Given the description of an element on the screen output the (x, y) to click on. 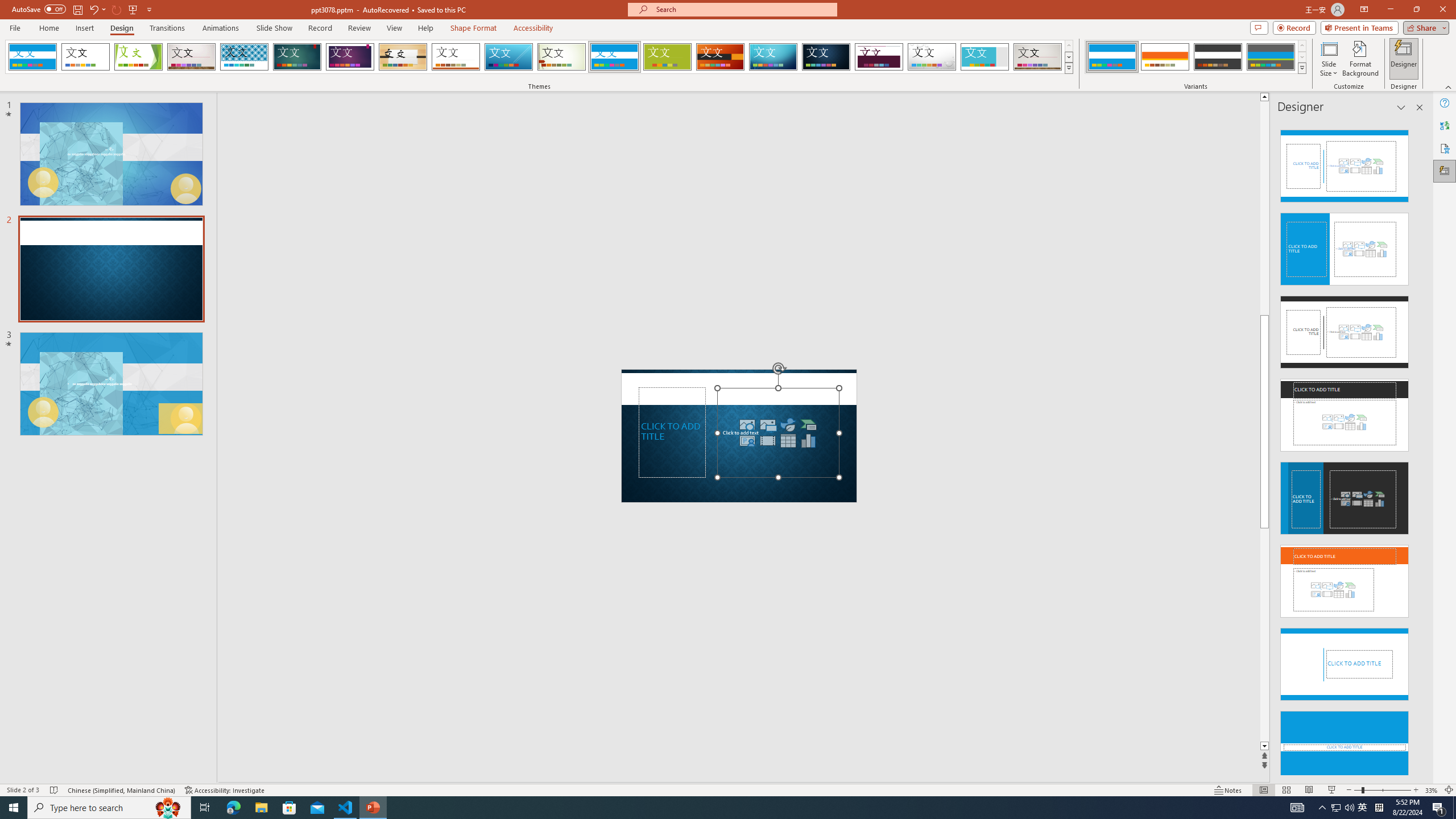
Ion (296, 56)
Format Background (1360, 58)
Integral (244, 56)
Retrospect (455, 56)
Insert Cameo (747, 440)
Content Placeholder (777, 432)
